Given the description of an element on the screen output the (x, y) to click on. 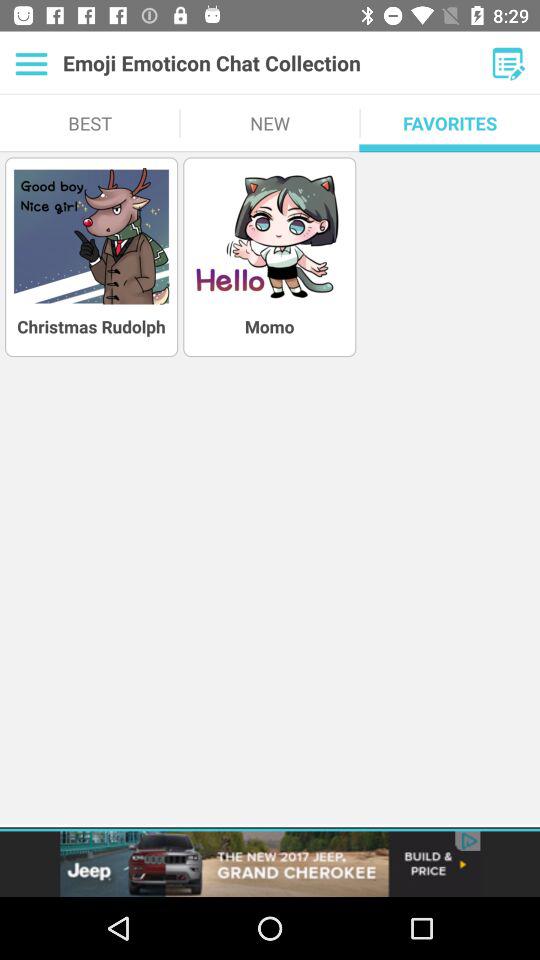
open menu (508, 63)
